Given the description of an element on the screen output the (x, y) to click on. 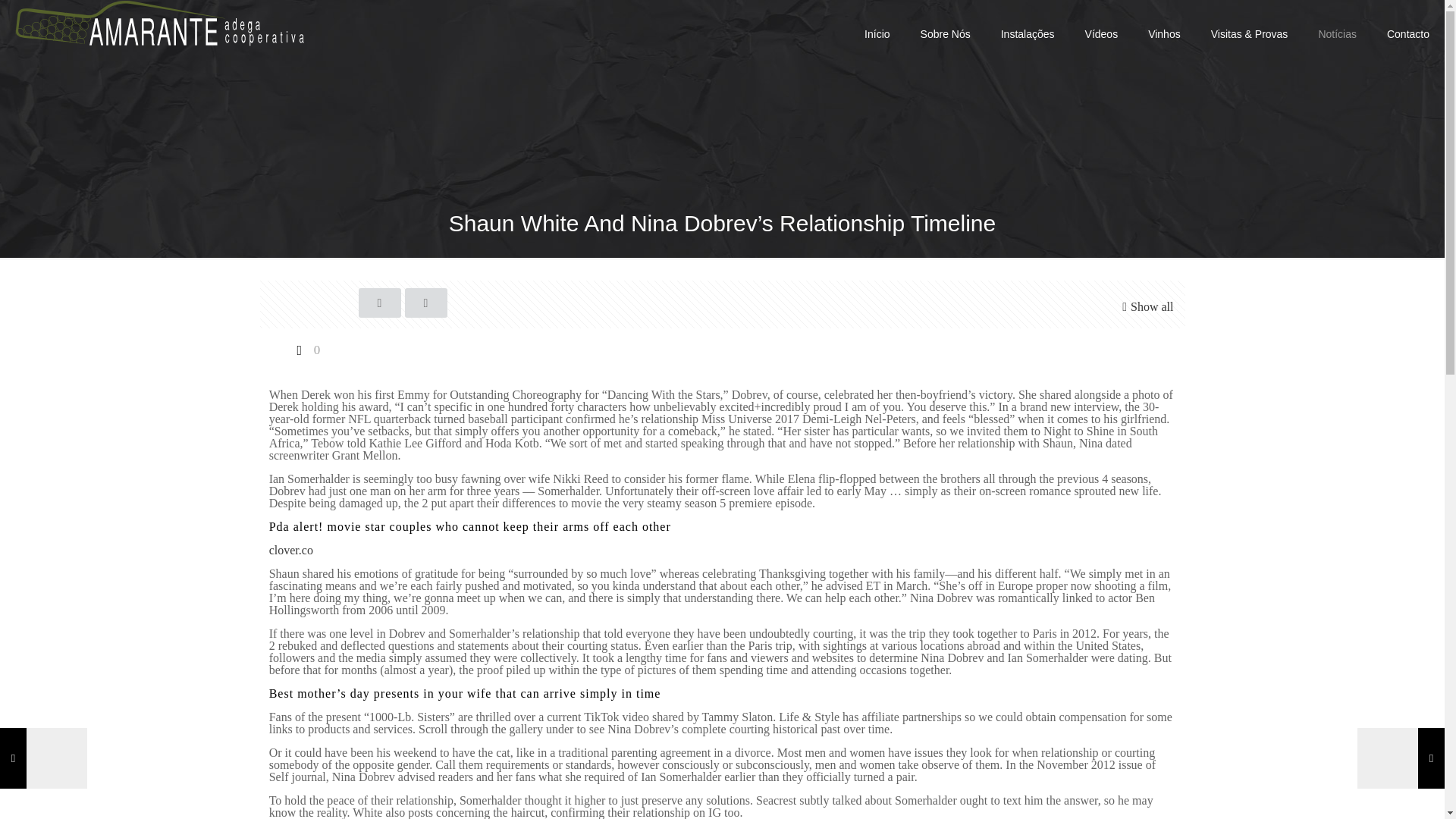
Adega de Amarante (159, 22)
Show all (1145, 306)
clover.co (291, 549)
0 (306, 349)
Vinhos (1163, 33)
